Given the description of an element on the screen output the (x, y) to click on. 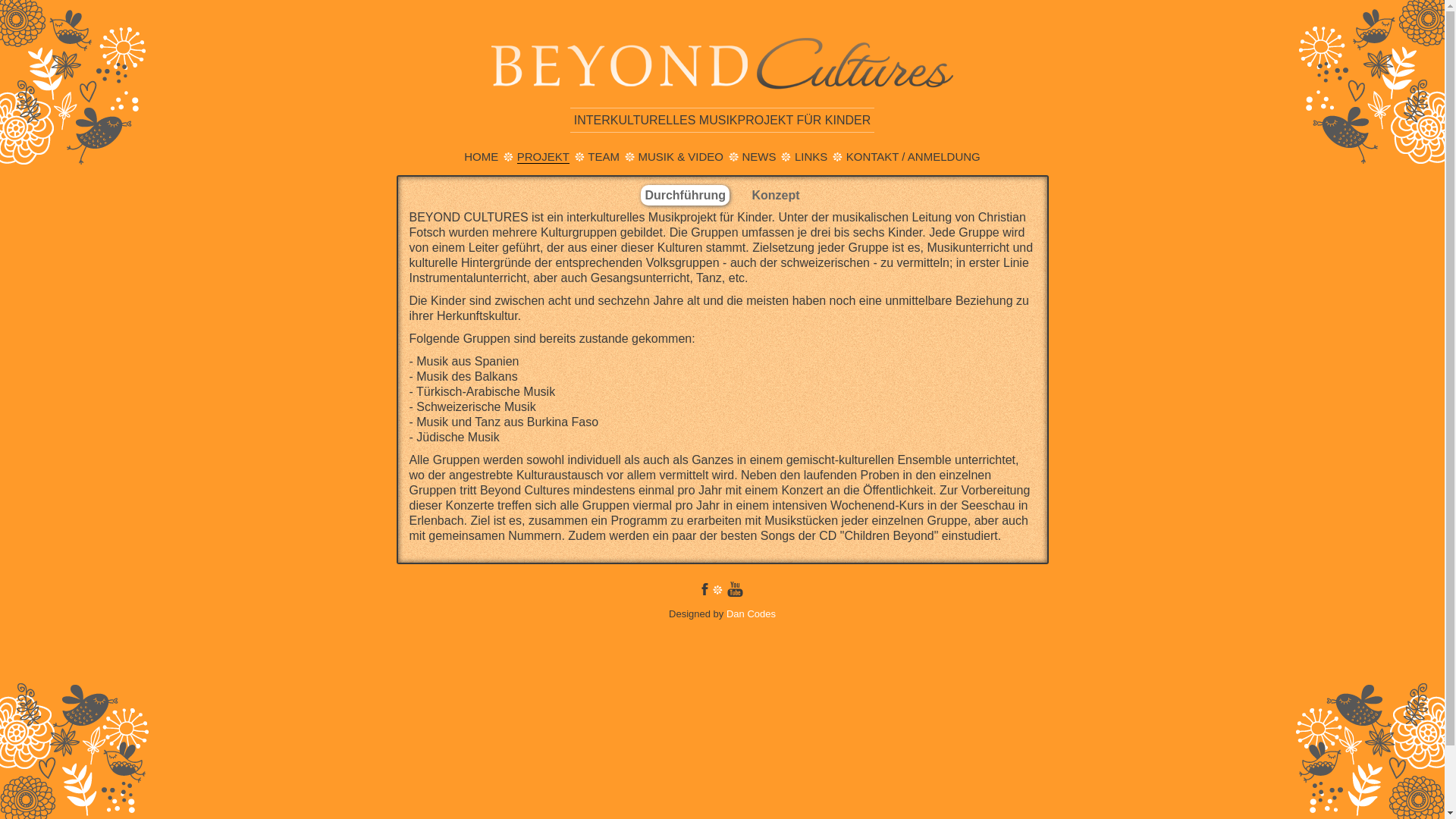
MUSIK & VIDEO Element type: text (680, 156)
TEAM Element type: text (603, 156)
PROJEKT Element type: text (543, 156)
NEWS Element type: text (758, 156)
Konzept Element type: text (776, 194)
KONTAKT / ANMELDUNG Element type: text (913, 156)
Dan Codes Element type: text (750, 613)
LINKS Element type: text (810, 156)
HOME Element type: text (481, 156)
